Given the description of an element on the screen output the (x, y) to click on. 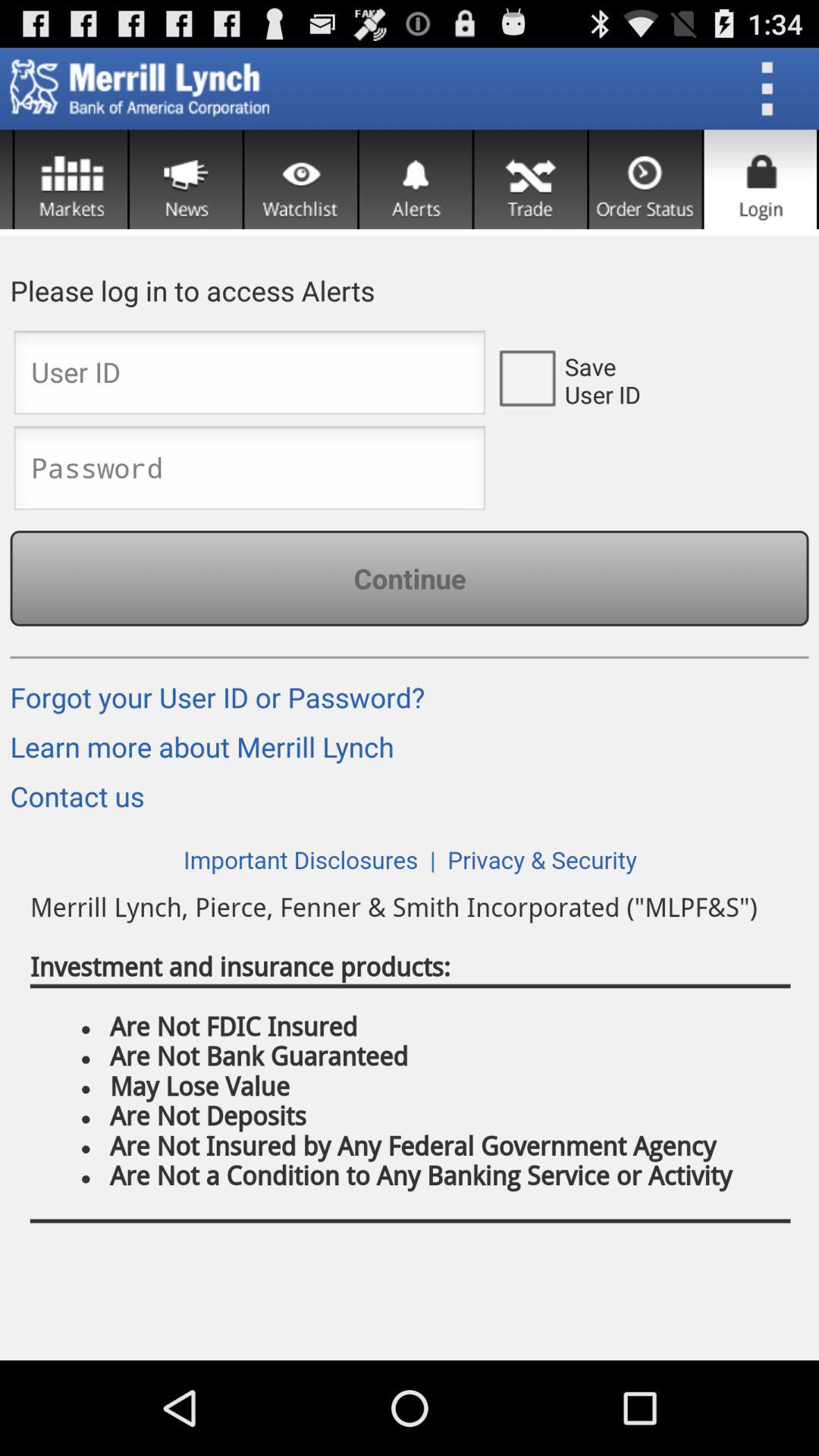
open menu (772, 88)
